Given the description of an element on the screen output the (x, y) to click on. 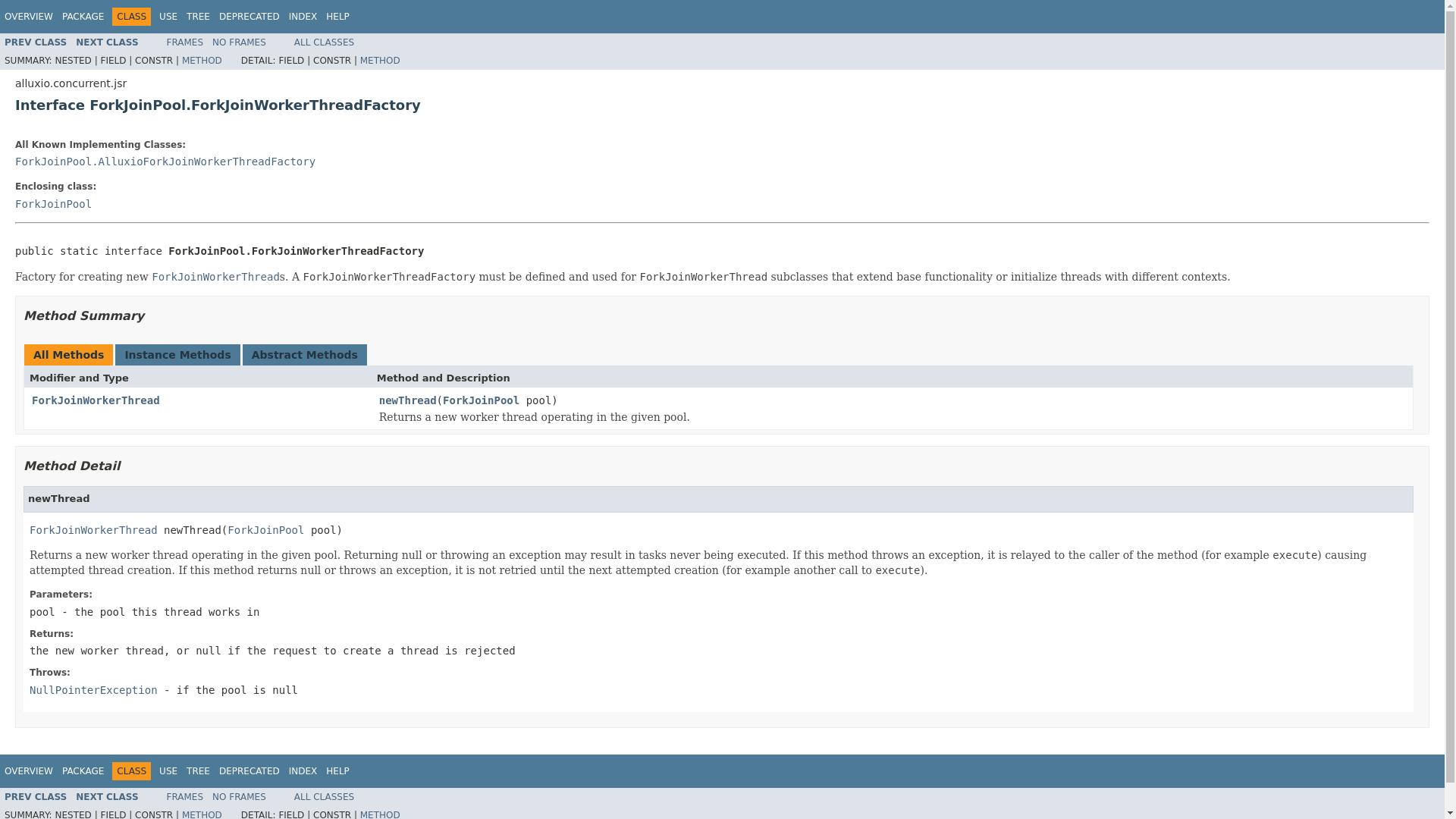
NullPointerException (93, 689)
OVERVIEW (28, 770)
class in alluxio.concurrent.jsr (35, 41)
Navigation (176, 771)
newThread (407, 400)
class in alluxio.concurrent.jsr (93, 529)
Instance Methods (176, 354)
ALL CLASSES (323, 41)
TREE (197, 770)
class or interface in java.lang (93, 689)
METHOD (379, 60)
ForkJoinWorkerThread (215, 276)
interface in alluxio.concurrent.jsr (106, 796)
class in alluxio.concurrent.jsr (164, 161)
NEXT CLASS (106, 41)
